Given the description of an element on the screen output the (x, y) to click on. 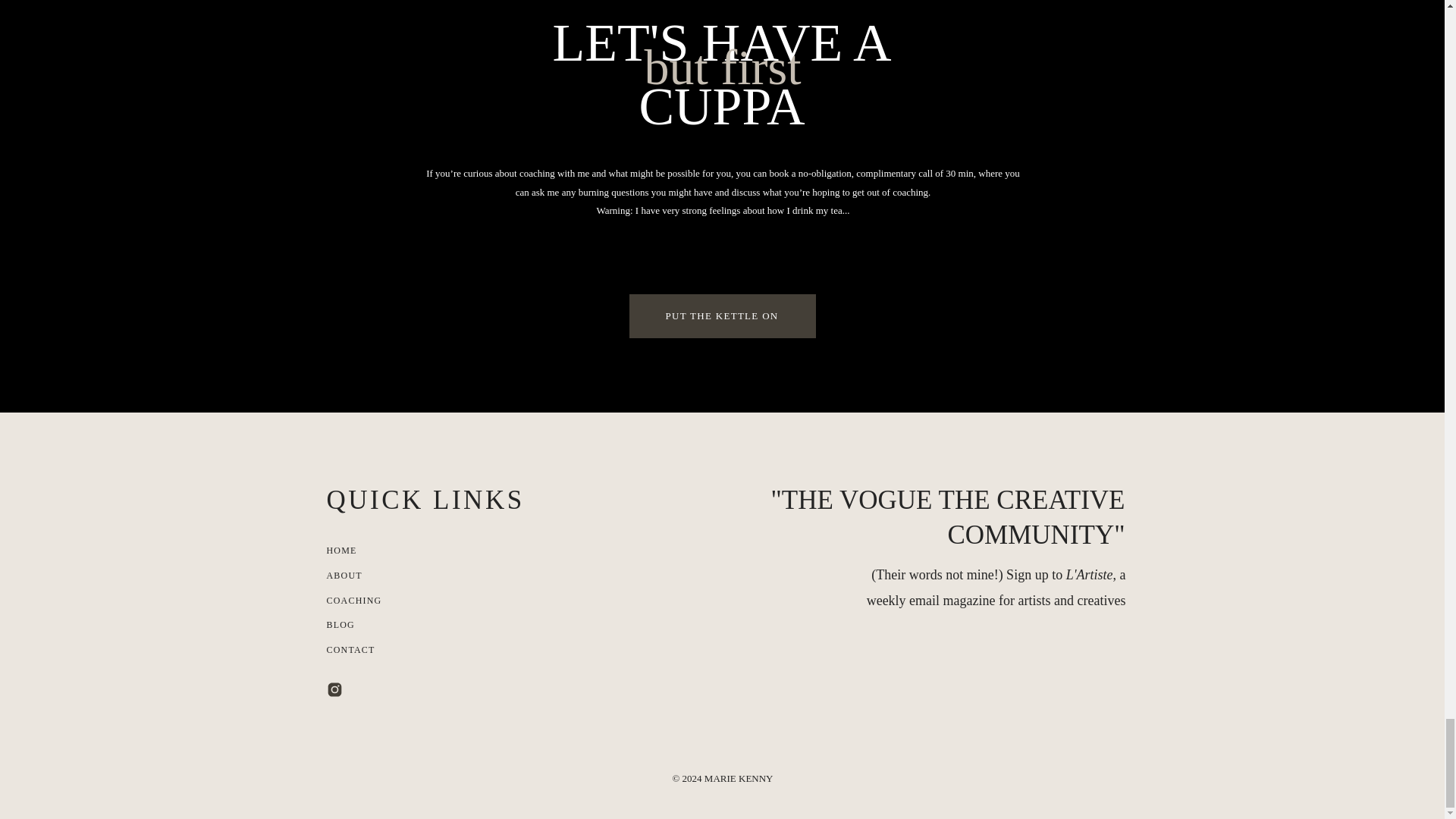
ABOUT (361, 576)
LET'S HAVE A CUPPA (721, 72)
CONTACT (369, 651)
PUT THE KETTLE ON (720, 316)
HOME (385, 551)
COACHING (359, 601)
QUICK LINKS (440, 501)
